Given the description of an element on the screen output the (x, y) to click on. 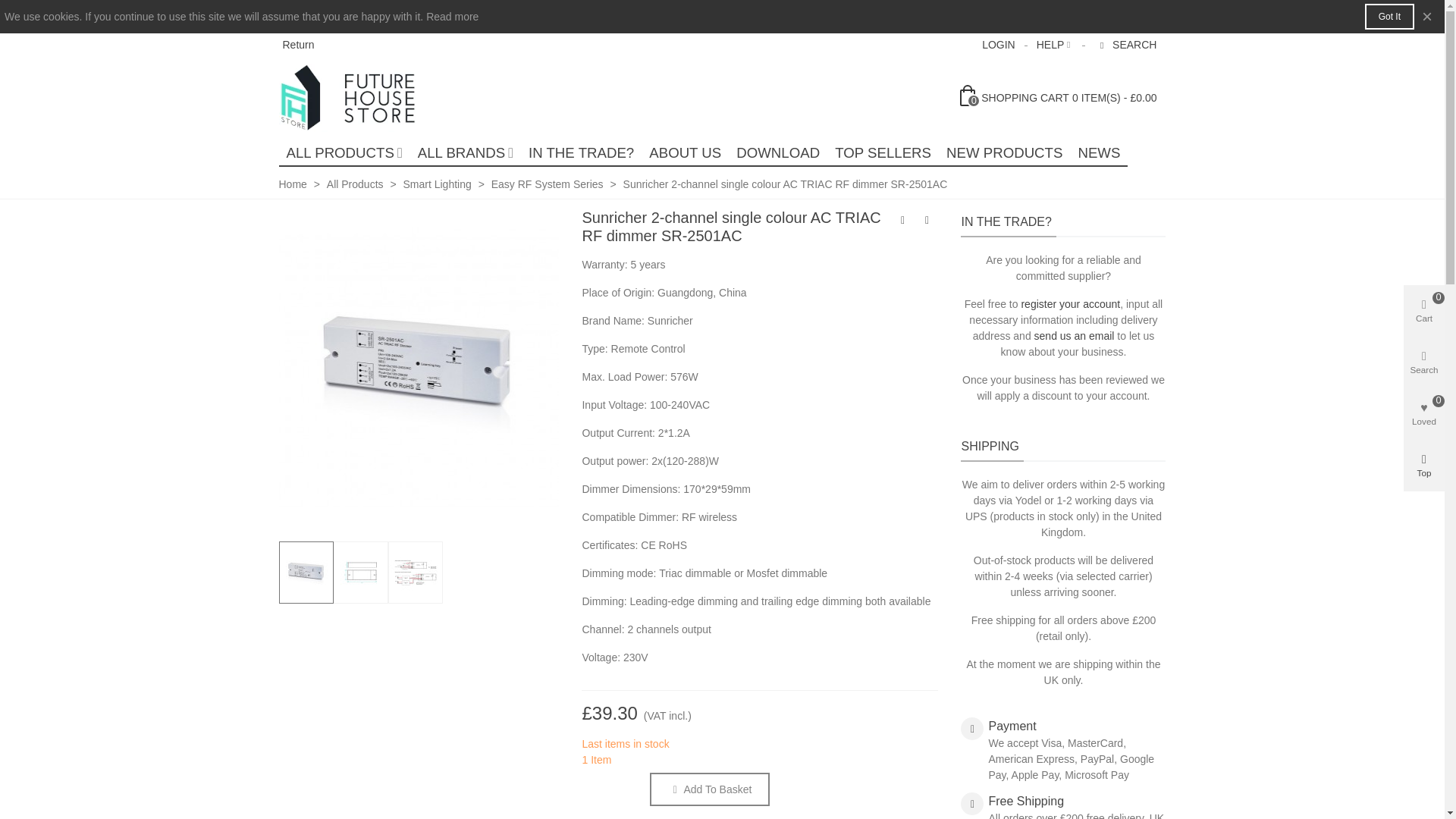
LOGIN (998, 44)
Read more (452, 16)
Search (1126, 44)
ALL PRODUCTS (344, 153)
Future House Store (362, 97)
Got It (1389, 16)
View my shopping cart (1058, 97)
Read more (452, 16)
SEARCH (1126, 44)
All Products (344, 153)
